Given the description of an element on the screen output the (x, y) to click on. 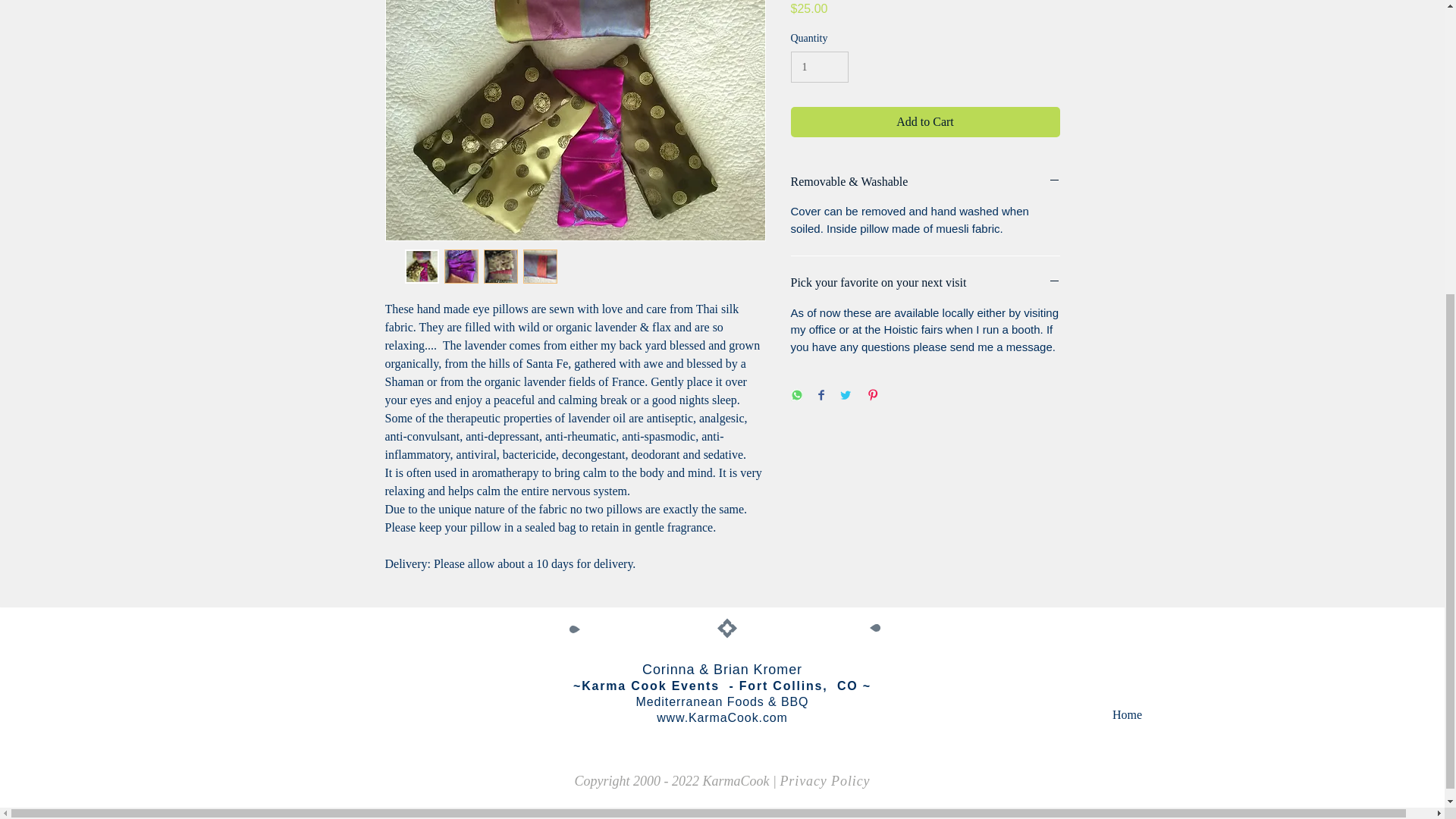
Add to Cart (924, 122)
1 (818, 66)
Home (1126, 715)
www.KarmaCook.com (721, 717)
Privacy Policy (823, 780)
Pick your favorite on your next visit (924, 282)
